Given the description of an element on the screen output the (x, y) to click on. 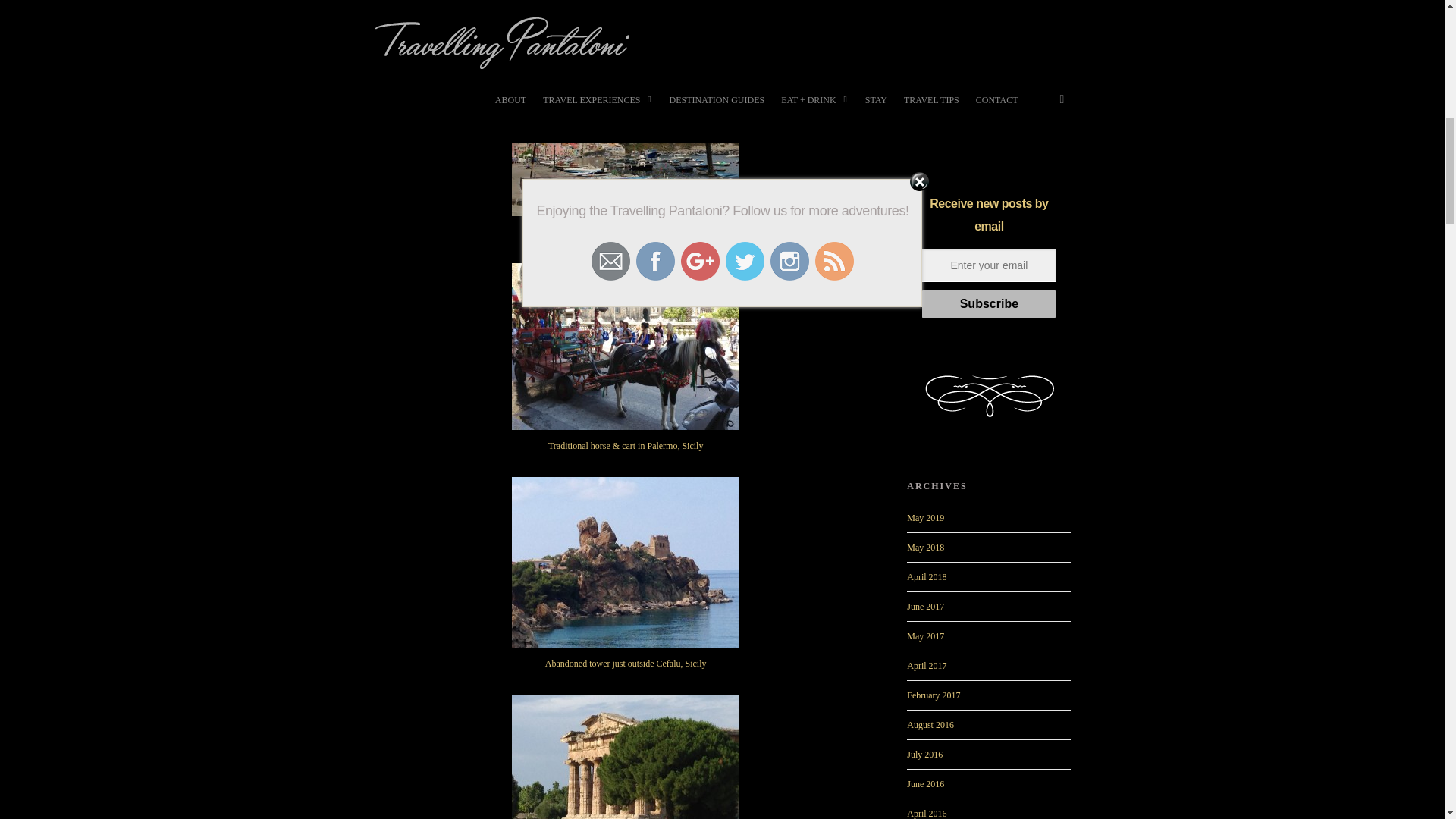
Subscribe (988, 303)
